Given the description of an element on the screen output the (x, y) to click on. 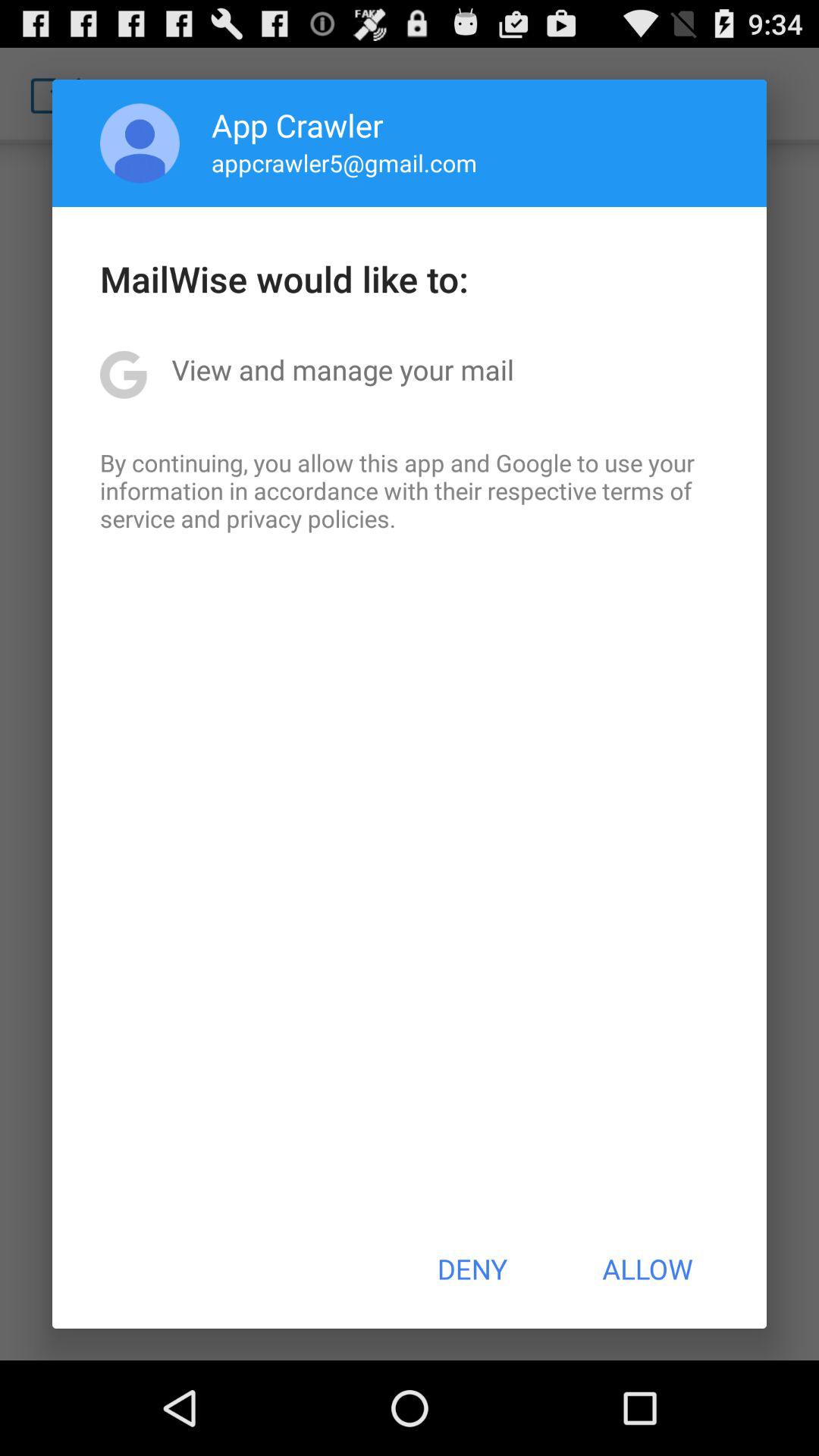
turn off button at the bottom (471, 1268)
